Given the description of an element on the screen output the (x, y) to click on. 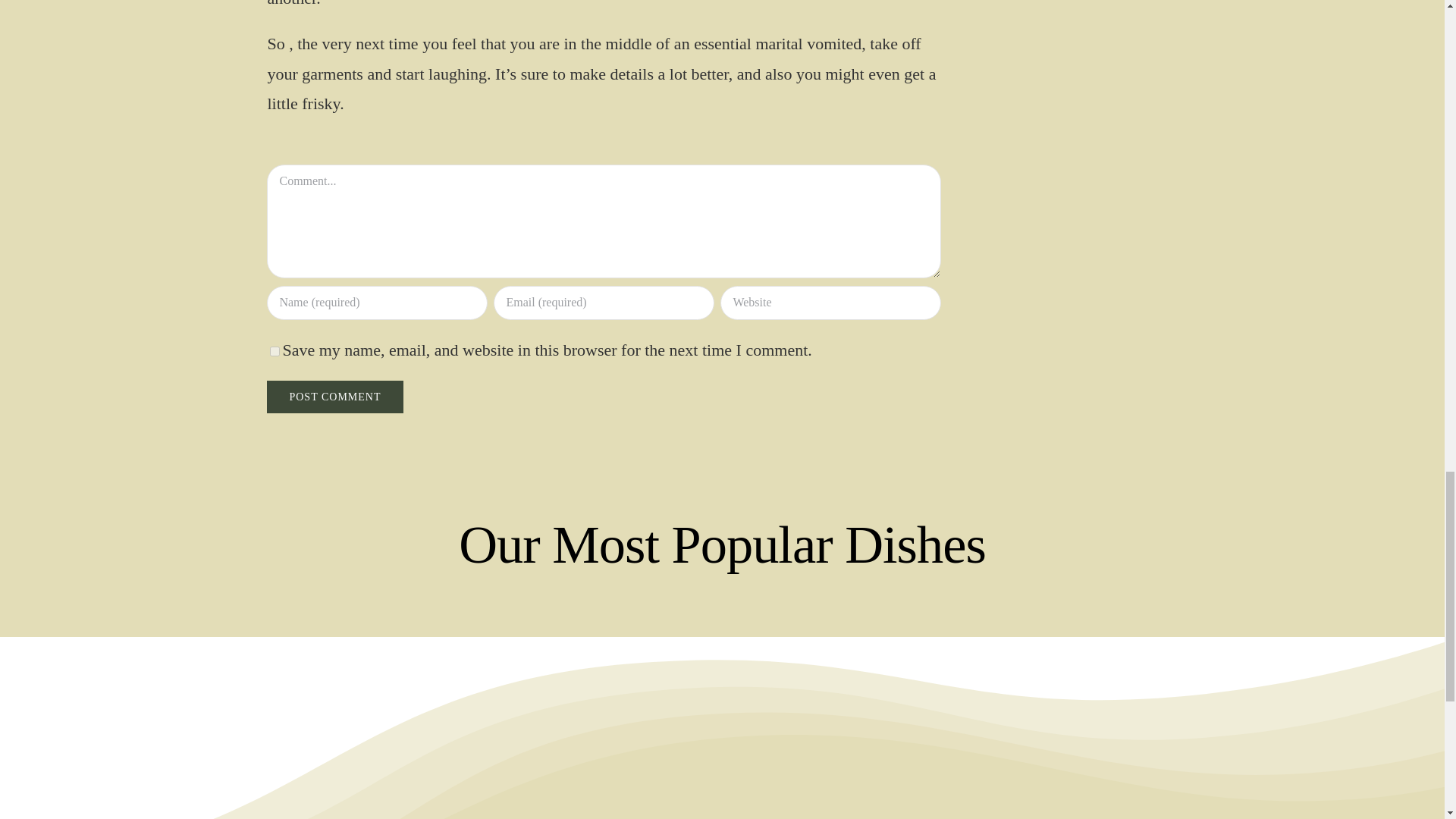
Post Comment (334, 396)
yes (274, 351)
Post Comment (334, 396)
